Given the description of an element on the screen output the (x, y) to click on. 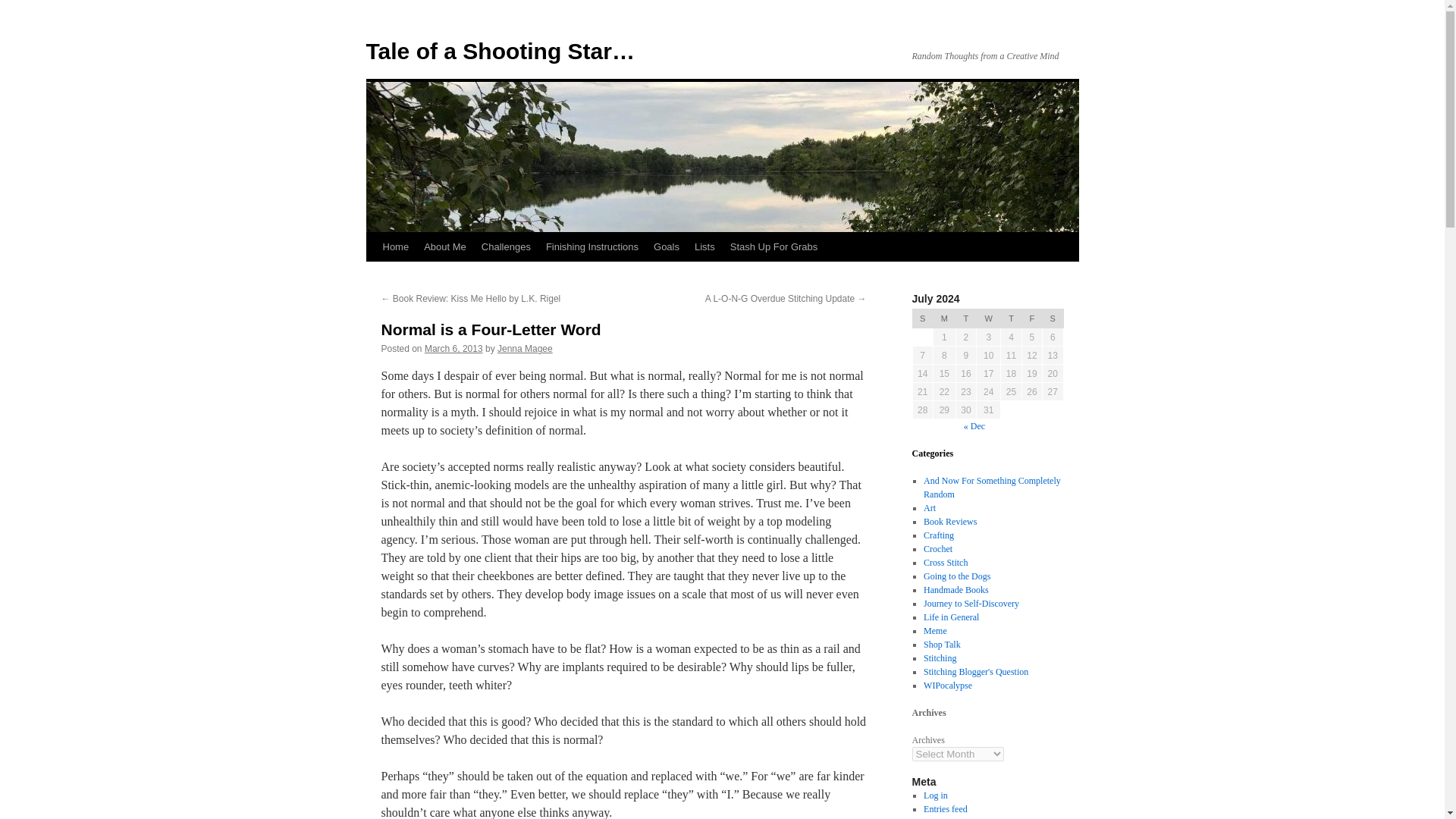
Wednesday (988, 318)
Finishing Instructions (592, 246)
View all posts by Jenna Magee (525, 348)
Thursday (1011, 318)
Home (395, 246)
Lists (704, 246)
Challenges (506, 246)
Sunday (922, 318)
11:43 am (454, 348)
Friday (1032, 318)
About Me (445, 246)
Monday (944, 318)
Tuesday (965, 318)
Goals (666, 246)
Saturday (1052, 318)
